Given the description of an element on the screen output the (x, y) to click on. 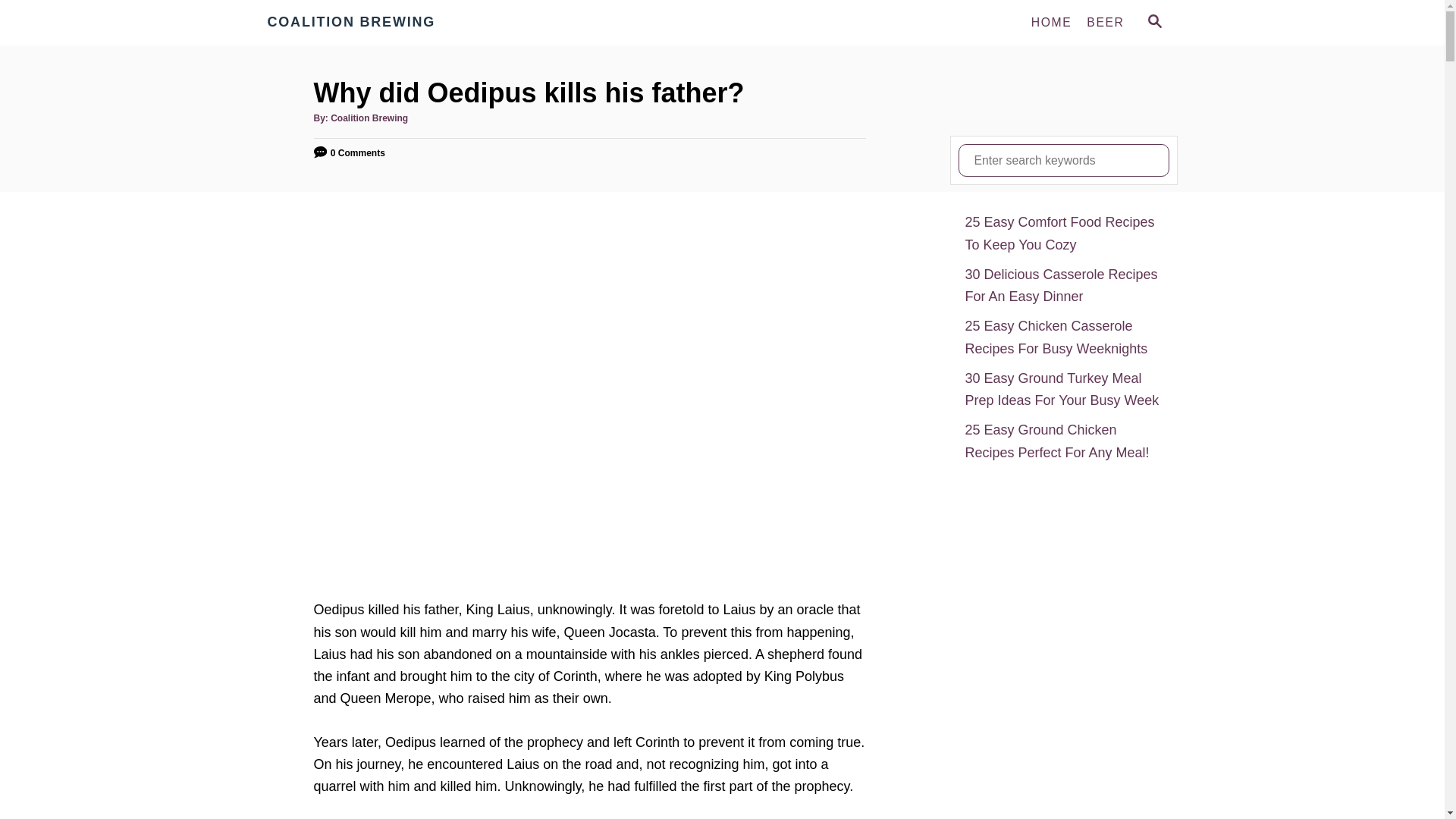
HOME (1051, 22)
Search (22, 22)
25 Easy Ground Chicken Recipes Perfect For Any Meal! (1062, 441)
Coalition Brewing (368, 118)
25 Easy Chicken Casserole Recipes For Busy Weeknights (1062, 337)
BEER (1104, 22)
Coalition Brewing (403, 22)
30 Delicious Casserole Recipes For An Easy Dinner (1062, 286)
30 Easy Ground Turkey Meal Prep Ideas For Your Busy Week (1062, 389)
